Given the description of an element on the screen output the (x, y) to click on. 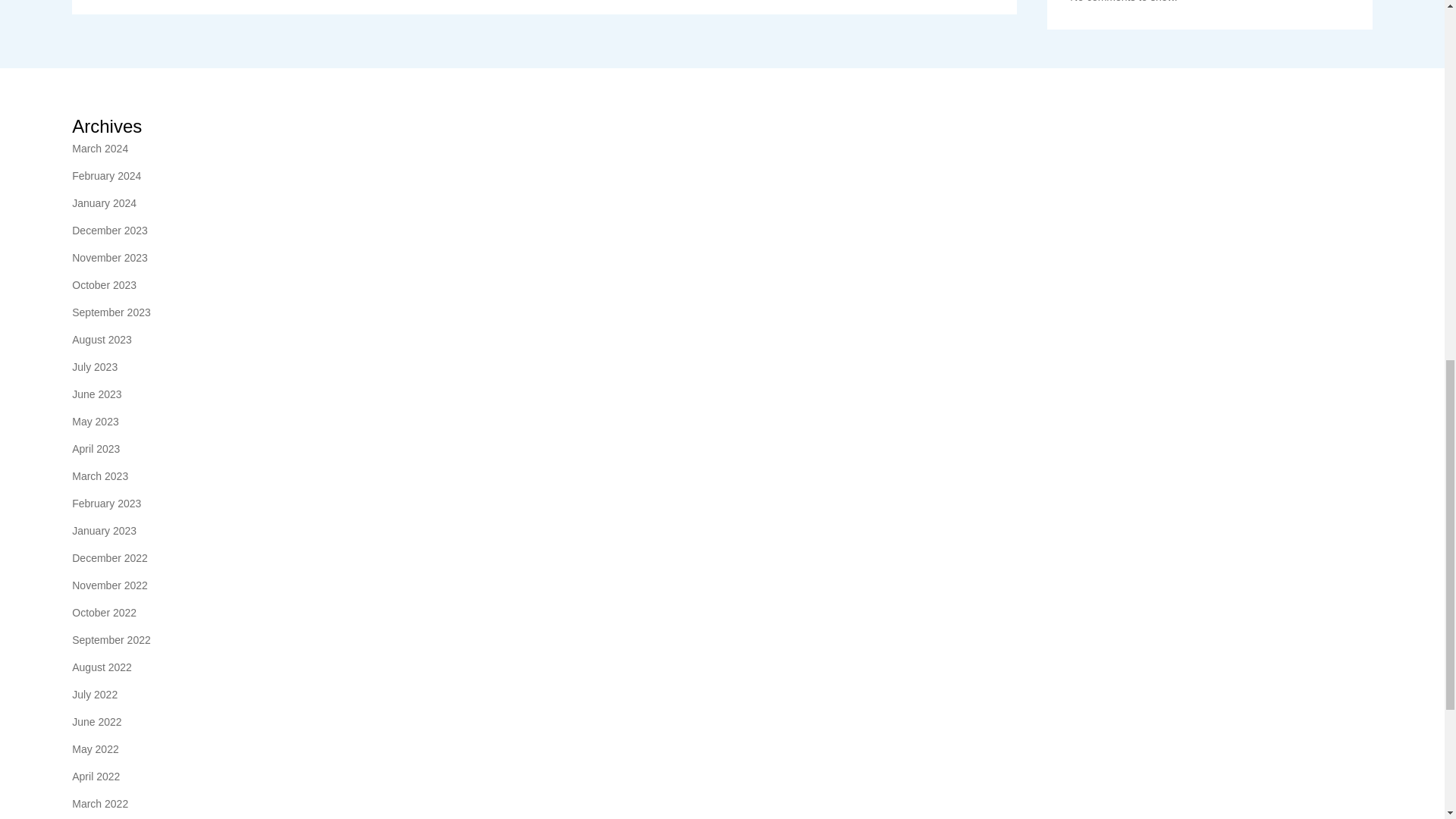
December 2022 (109, 557)
October 2023 (103, 284)
September 2023 (111, 312)
July 2022 (94, 694)
February 2023 (106, 503)
December 2023 (109, 230)
March 2023 (99, 476)
November 2022 (109, 585)
August 2022 (101, 667)
August 2023 (101, 339)
January 2023 (103, 530)
June 2023 (95, 394)
March 2024 (99, 148)
February 2024 (106, 175)
May 2023 (94, 421)
